Given the description of an element on the screen output the (x, y) to click on. 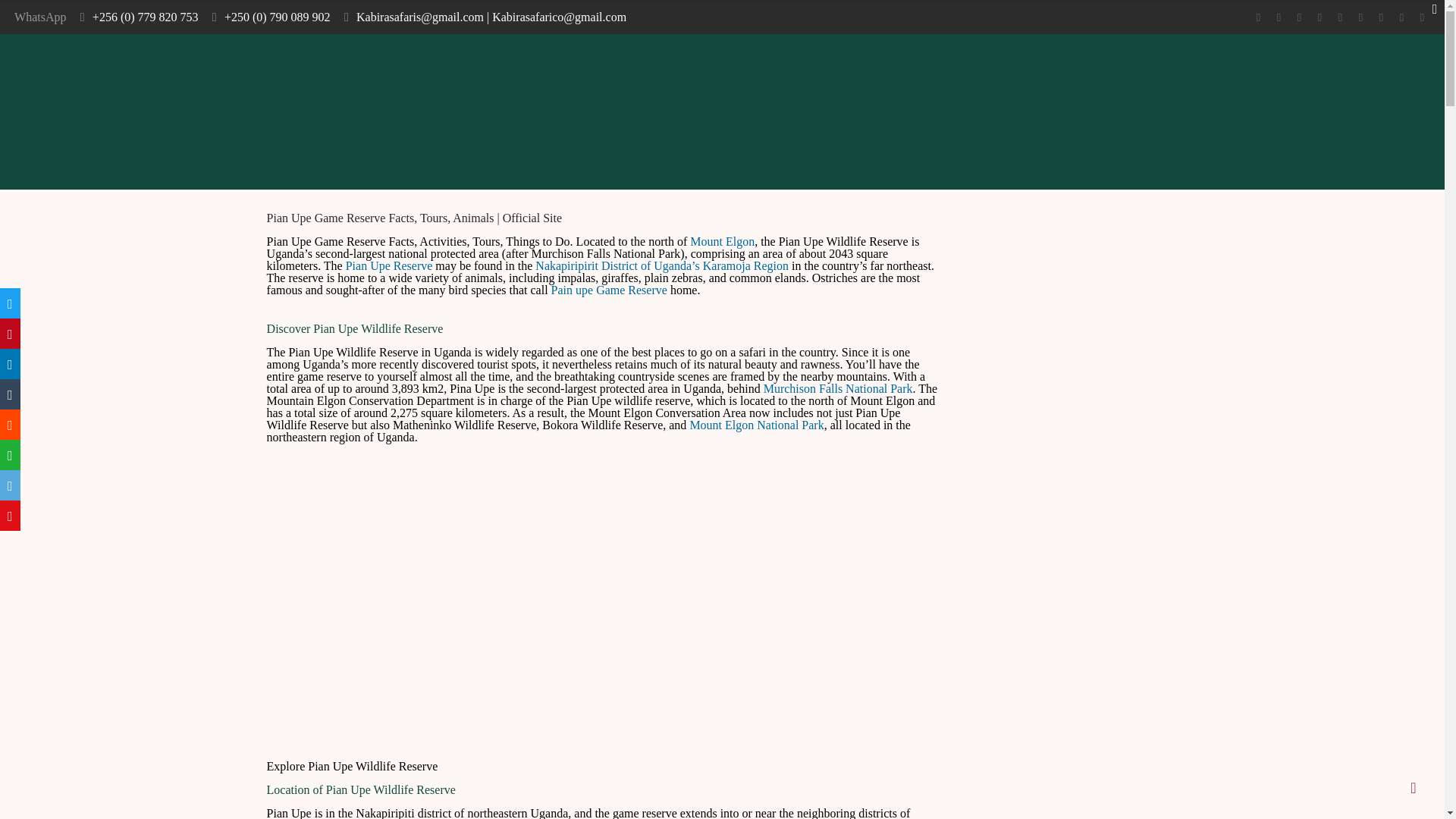
YouTube (1319, 17)
Instagram (1381, 17)
Vimeo (1299, 17)
TripAdvisor (1421, 17)
Tumblr (1401, 17)
LinkedIn (1340, 17)
Twitter (1279, 17)
Facebook (1258, 17)
Pinterest (1360, 17)
